Given the description of an element on the screen output the (x, y) to click on. 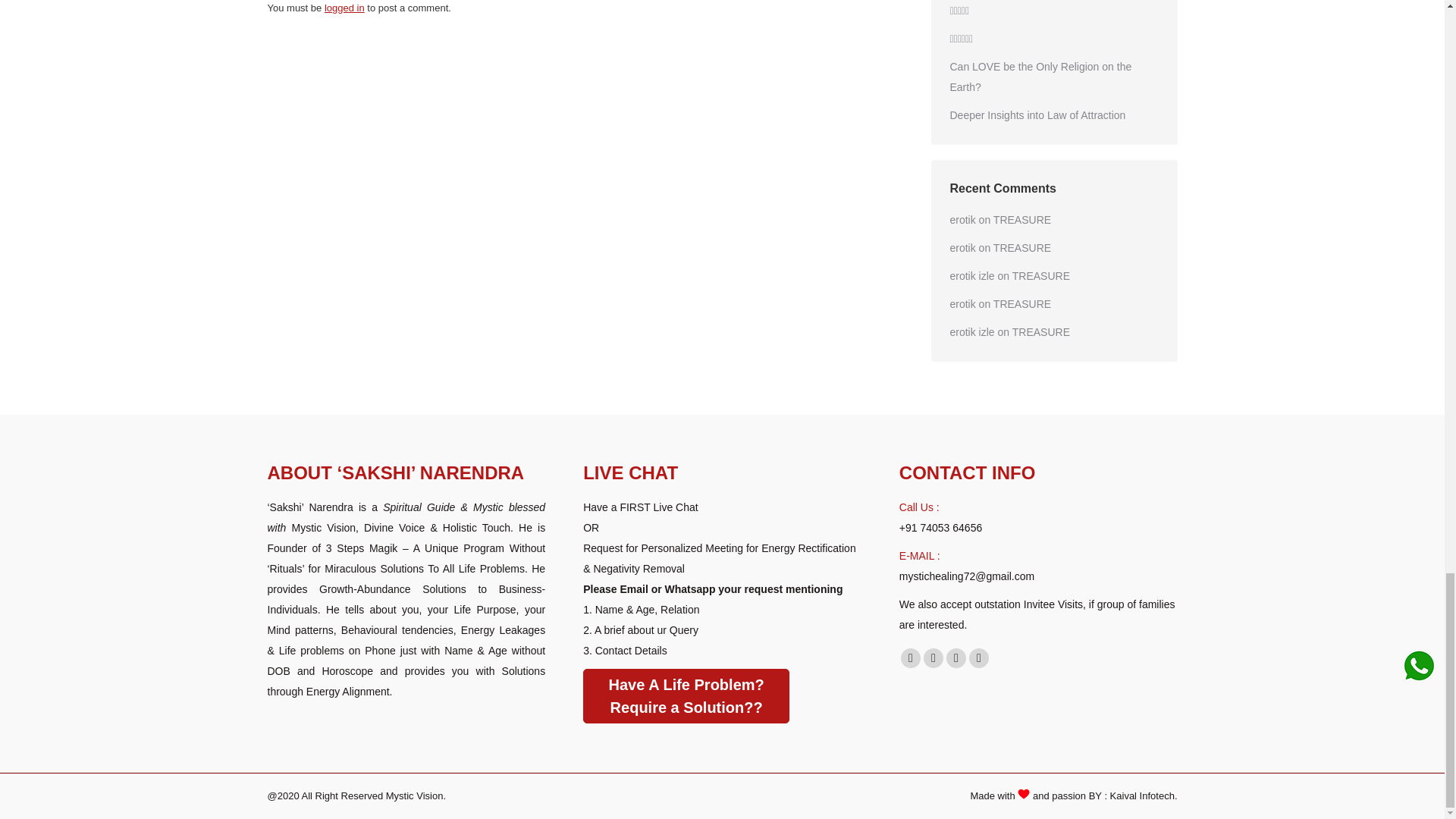
Instagram (978, 658)
YouTube (933, 658)
Facebook (910, 658)
Linkedin (956, 658)
